Given the description of an element on the screen output the (x, y) to click on. 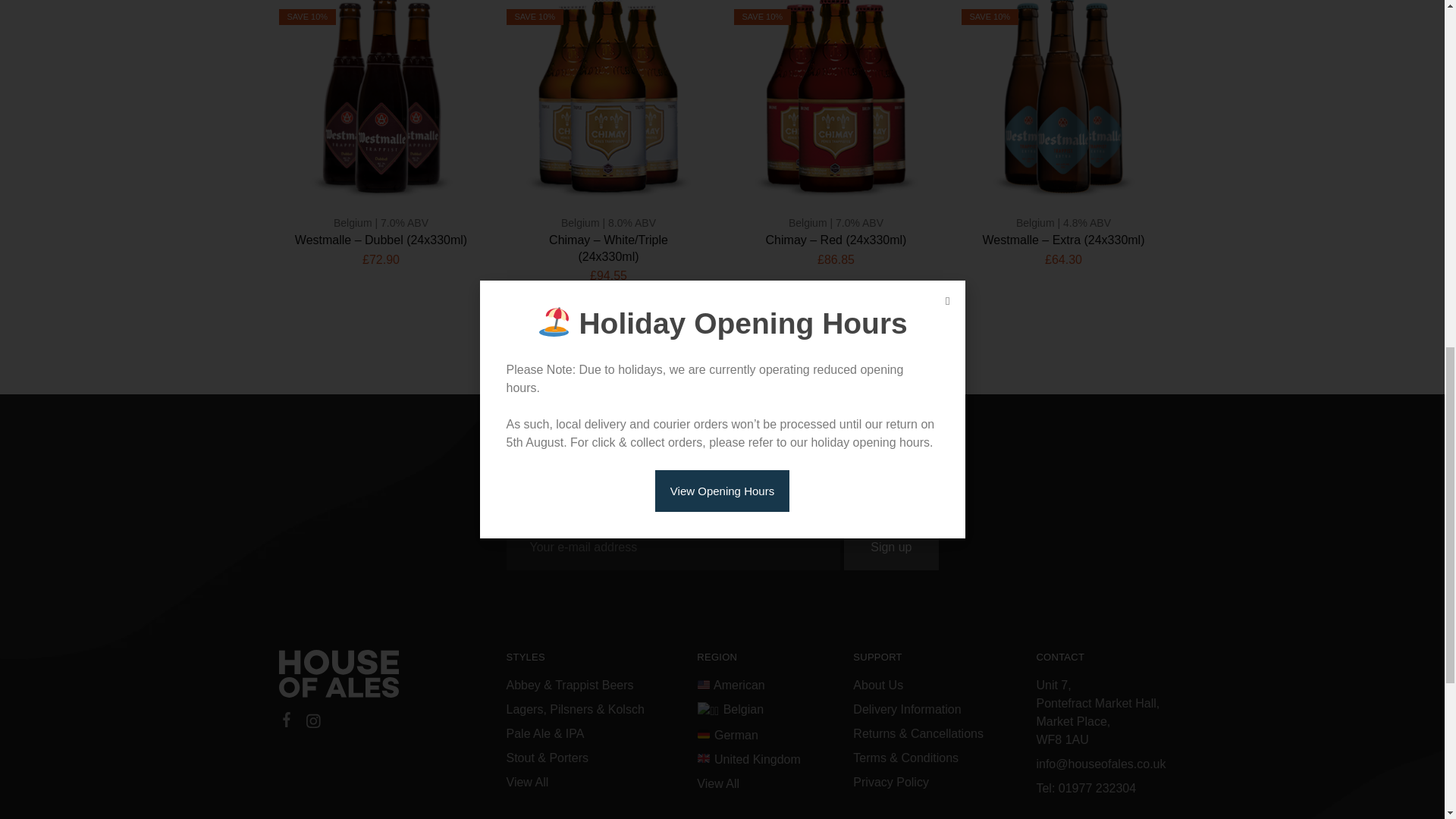
Sign up (890, 547)
Instagram (312, 722)
Facebook (286, 721)
